Given the description of an element on the screen output the (x, y) to click on. 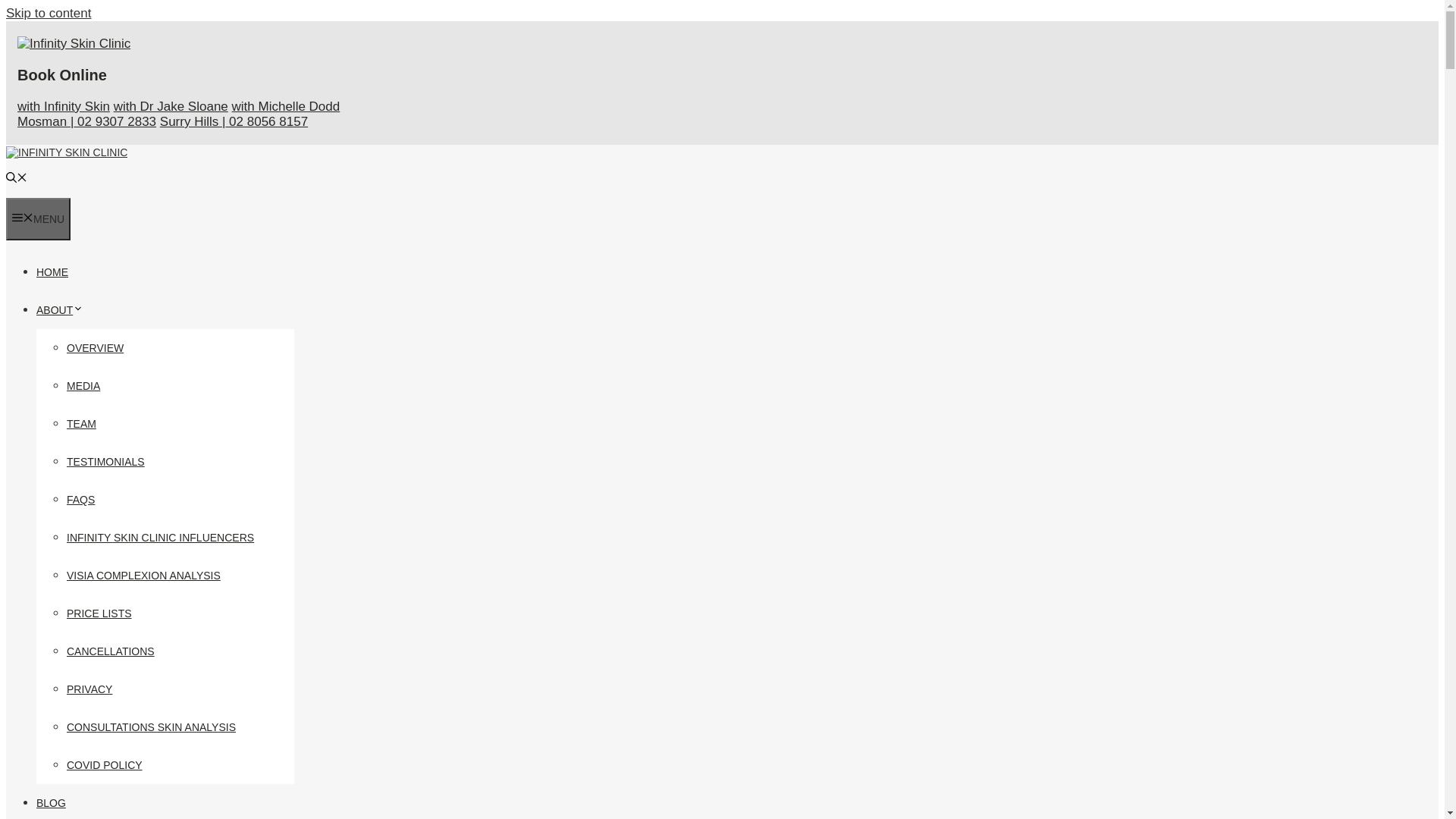
TESTIMONIALS Element type: text (105, 461)
Infinity Skin Clinic Element type: hover (66, 152)
PRICE LISTS Element type: text (98, 613)
MEDIA Element type: text (83, 385)
INFINITY SKIN CLINIC INFLUENCERS Element type: text (160, 537)
HOME Element type: text (52, 272)
Mosman | 02 9307 2833 Element type: text (86, 121)
CANCELLATIONS Element type: text (110, 651)
OVERVIEW Element type: text (94, 348)
with Infinity Skin Element type: text (63, 106)
VISIA COMPLEXION ANALYSIS Element type: text (143, 575)
Surry Hills | 02 8056 8157 Element type: text (233, 121)
FAQS Element type: text (80, 499)
CONSULTATIONS SKIN ANALYSIS Element type: text (150, 727)
with Michelle Dodd Element type: text (286, 106)
COVID POLICY Element type: text (104, 765)
with Dr Jake Sloane Element type: text (170, 106)
MENU Element type: text (38, 218)
PRIVACY Element type: text (89, 689)
BLOG Element type: text (50, 803)
Skip to content Element type: text (48, 13)
TEAM Element type: text (81, 423)
ABOUT Element type: text (59, 310)
